Given the description of an element on the screen output the (x, y) to click on. 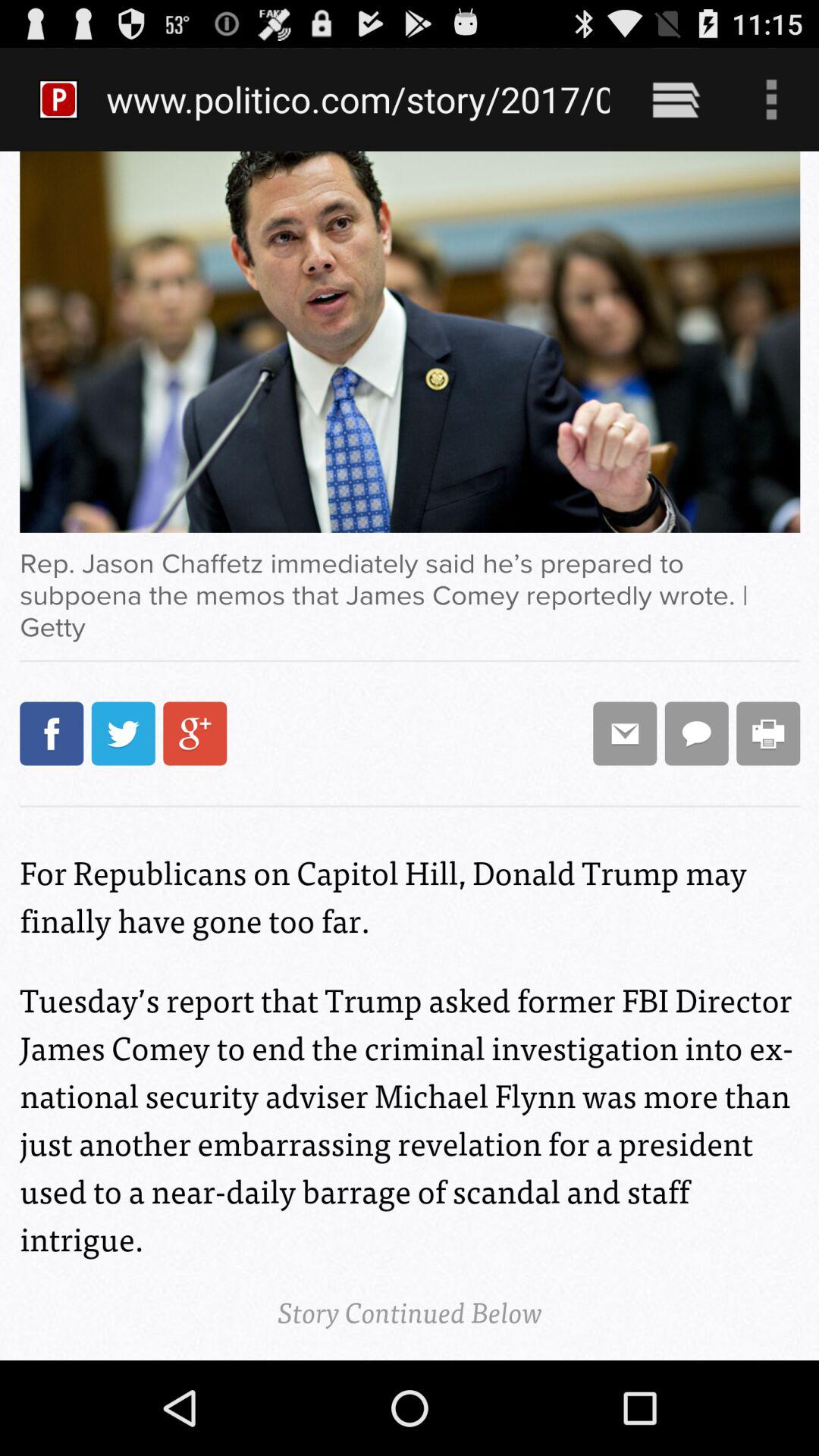
press icon at the center (409, 755)
